Given the description of an element on the screen output the (x, y) to click on. 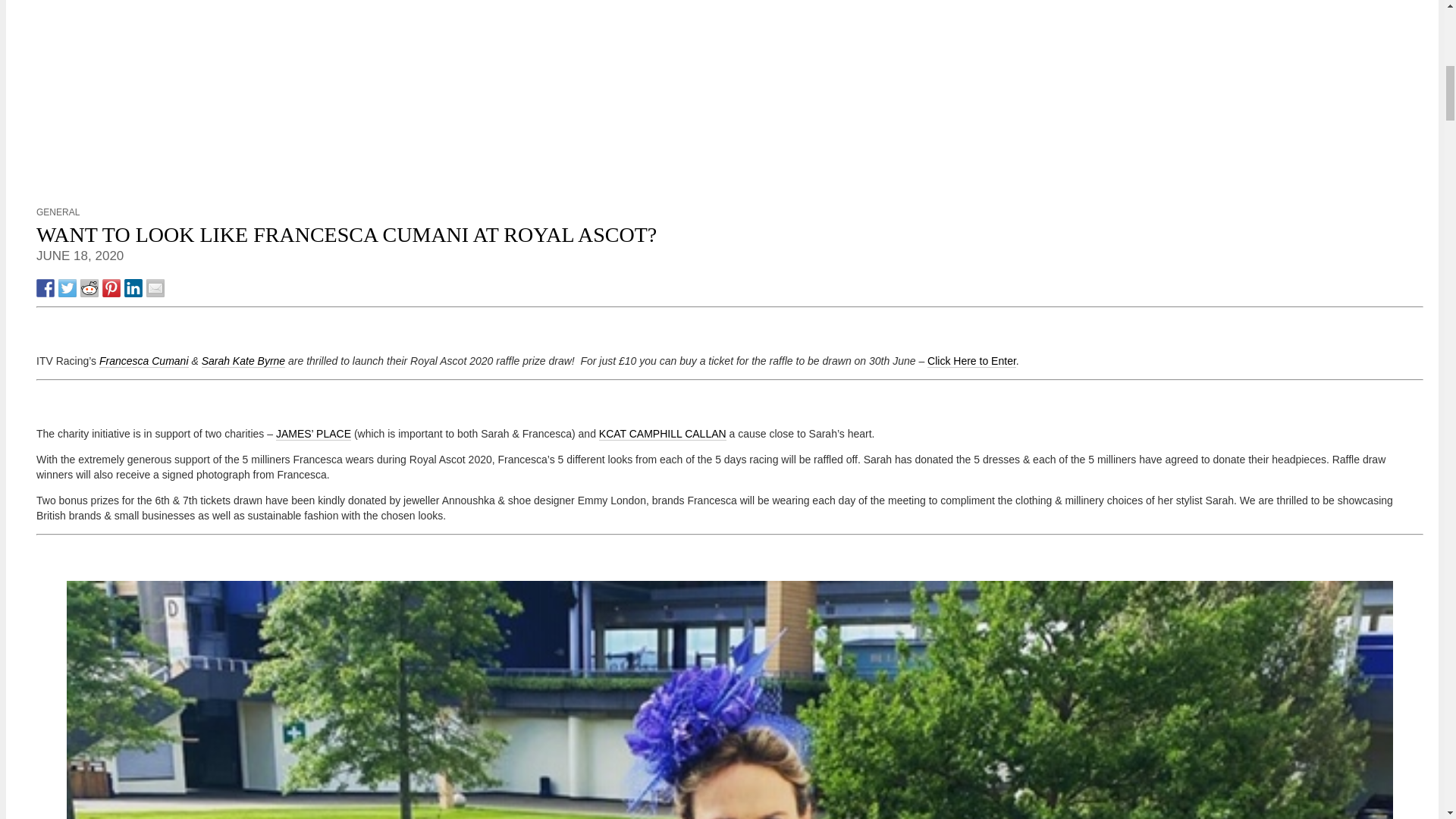
Share on Linkedin (132, 288)
Share on Reddit (89, 288)
WANT TO LOOK LIKE FRANCESCA CUMANI AT ROYAL ASCOT? (346, 234)
Pin it with Pinterest (110, 288)
GENERAL (58, 212)
Share on Facebook (45, 288)
Share by email (155, 288)
Share on Twitter (67, 288)
